Given the description of an element on the screen output the (x, y) to click on. 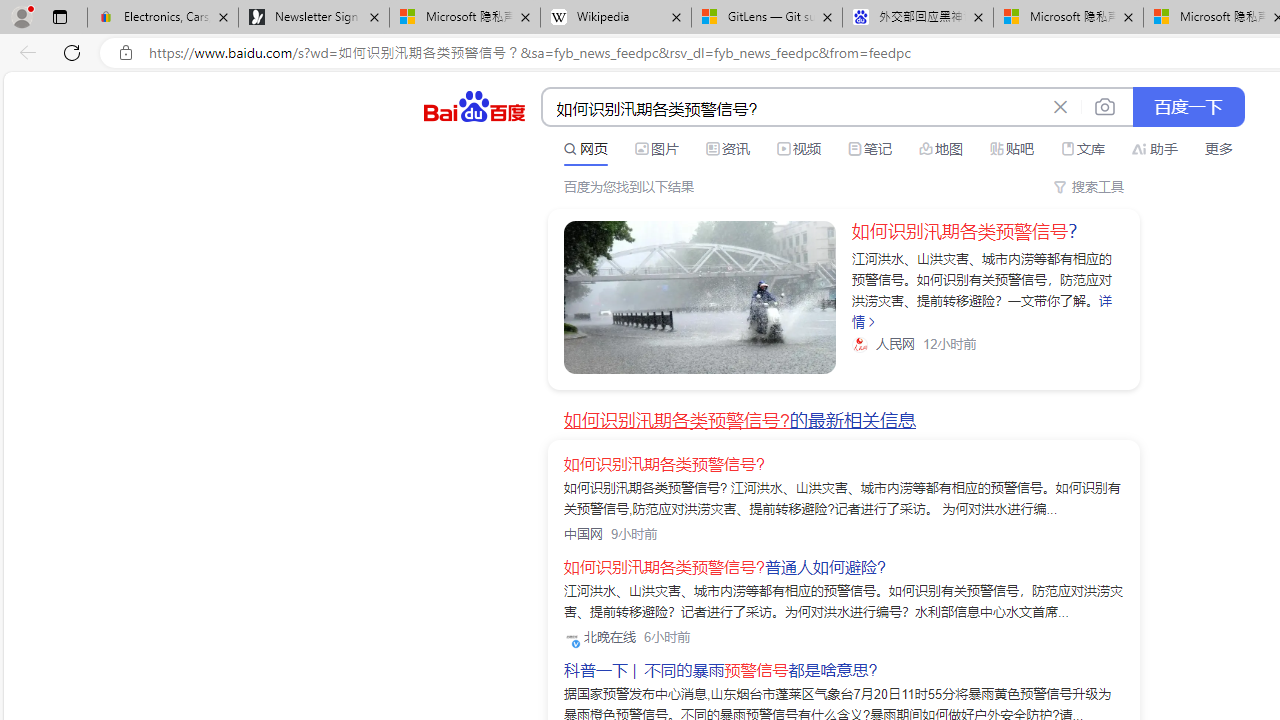
Class: sc-link _link_kwqvb_2 -v-color-primary block (699, 297)
